Given the description of an element on the screen output the (x, y) to click on. 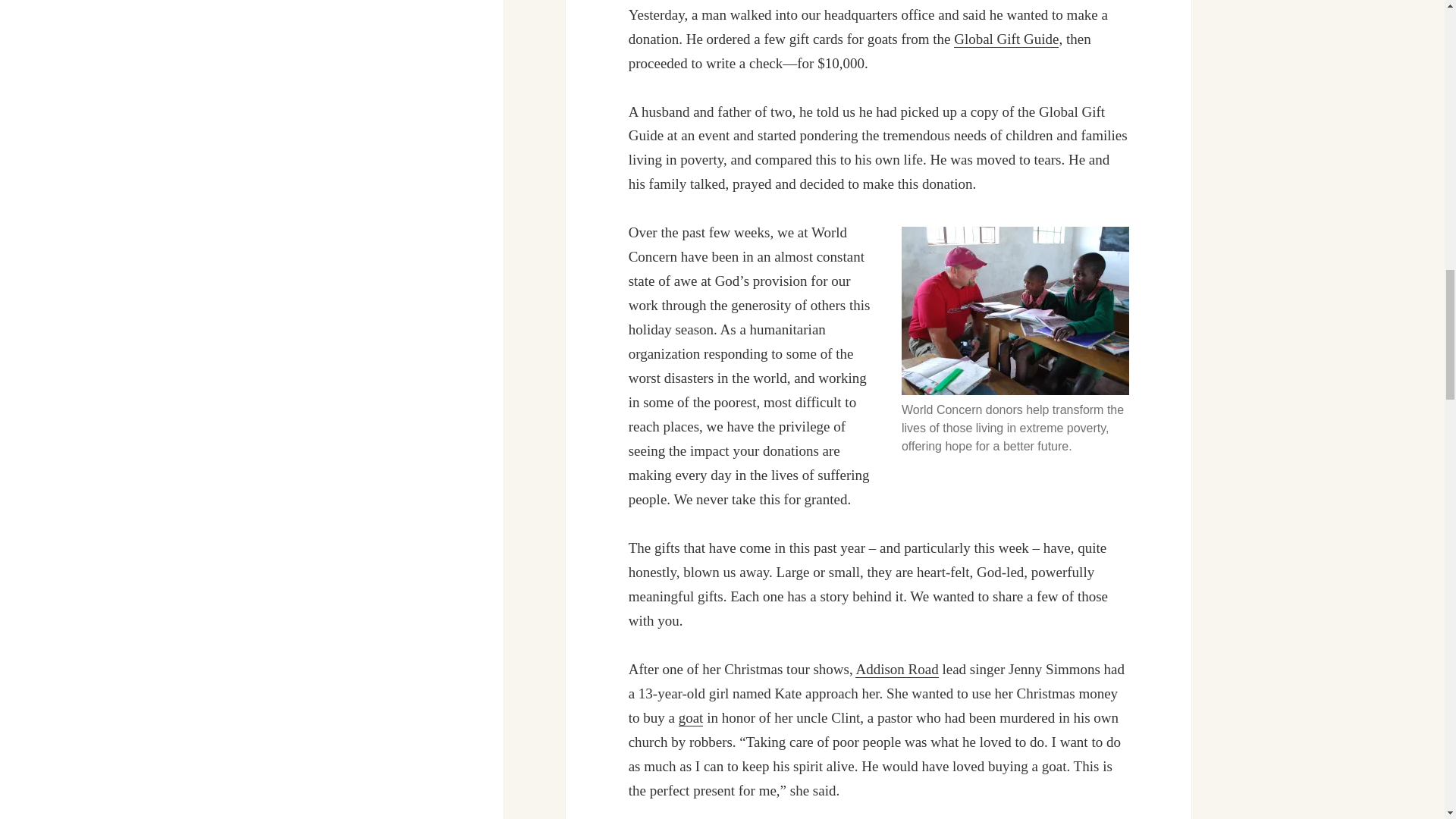
Global Gift Guide (1005, 39)
Addison Road (896, 669)
goat (690, 718)
